Given the description of an element on the screen output the (x, y) to click on. 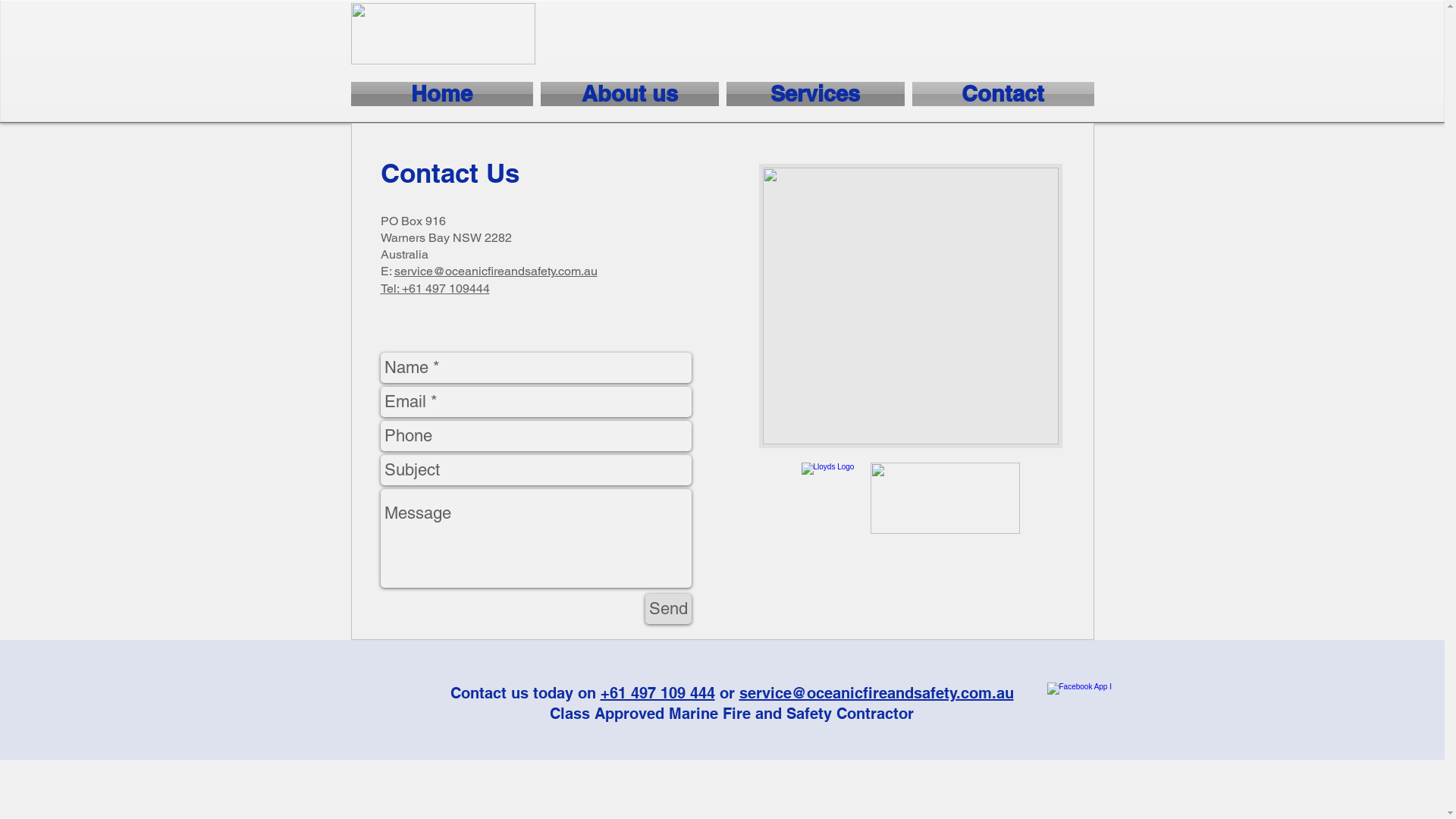
Oceanic_Fire_&_Safety_Logo_colour_large_ Element type: hover (442, 33)
Tel: +61 497 109444 Element type: text (434, 287)
Send Element type: text (667, 608)
20151208_093342_resized.jpg Element type: hover (909, 305)
service@oceanicfireandsafety.com.au Element type: text (875, 693)
About us Element type: text (629, 93)
Contact Element type: text (1001, 93)
Services Element type: text (814, 93)
+61 497 109 444 Element type: text (657, 693)
Home Element type: text (443, 93)
service@oceanicfireandsafety.com.au Element type: text (495, 270)
